Given the description of an element on the screen output the (x, y) to click on. 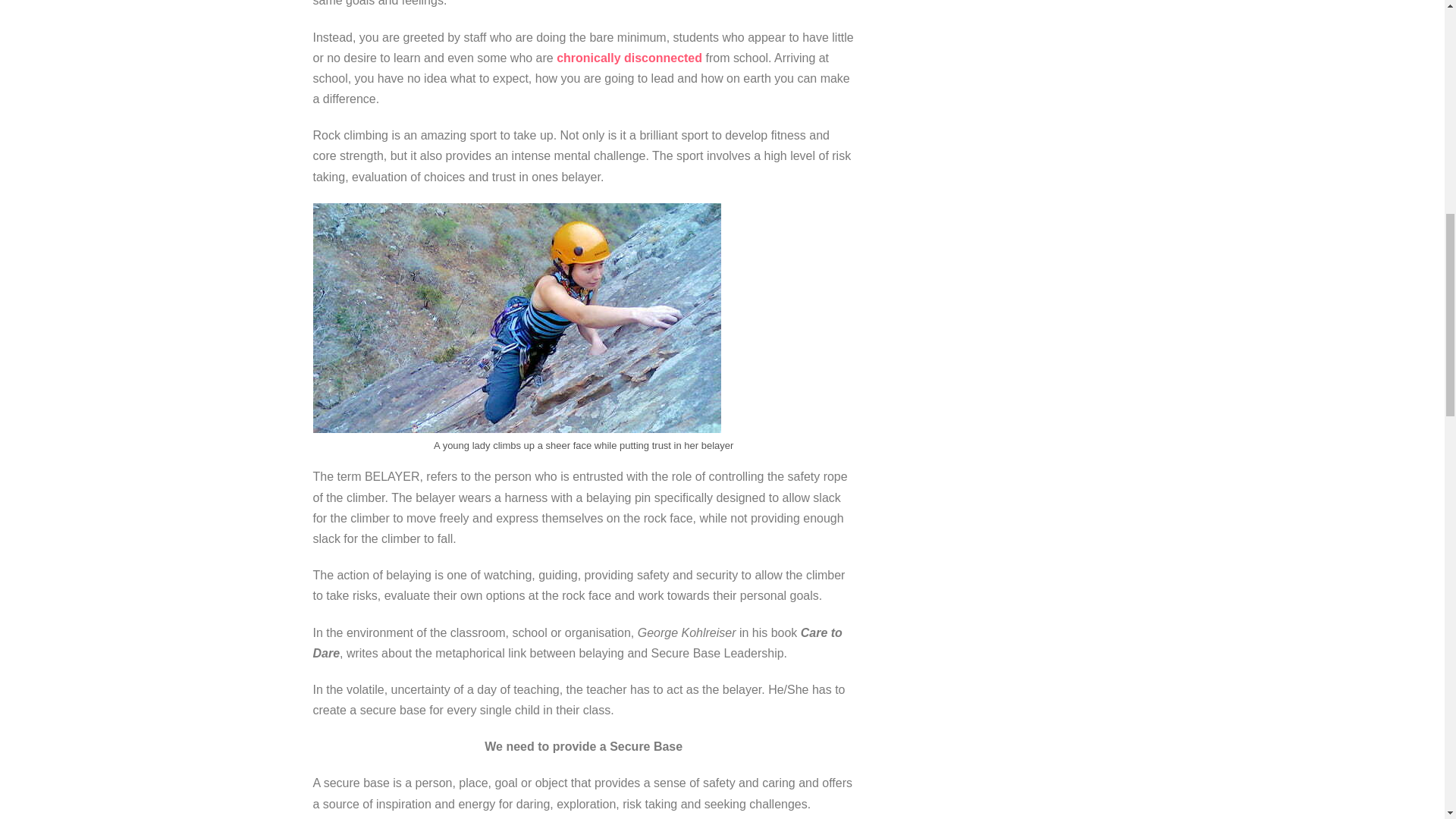
chronically disconnected (628, 57)
